Given the description of an element on the screen output the (x, y) to click on. 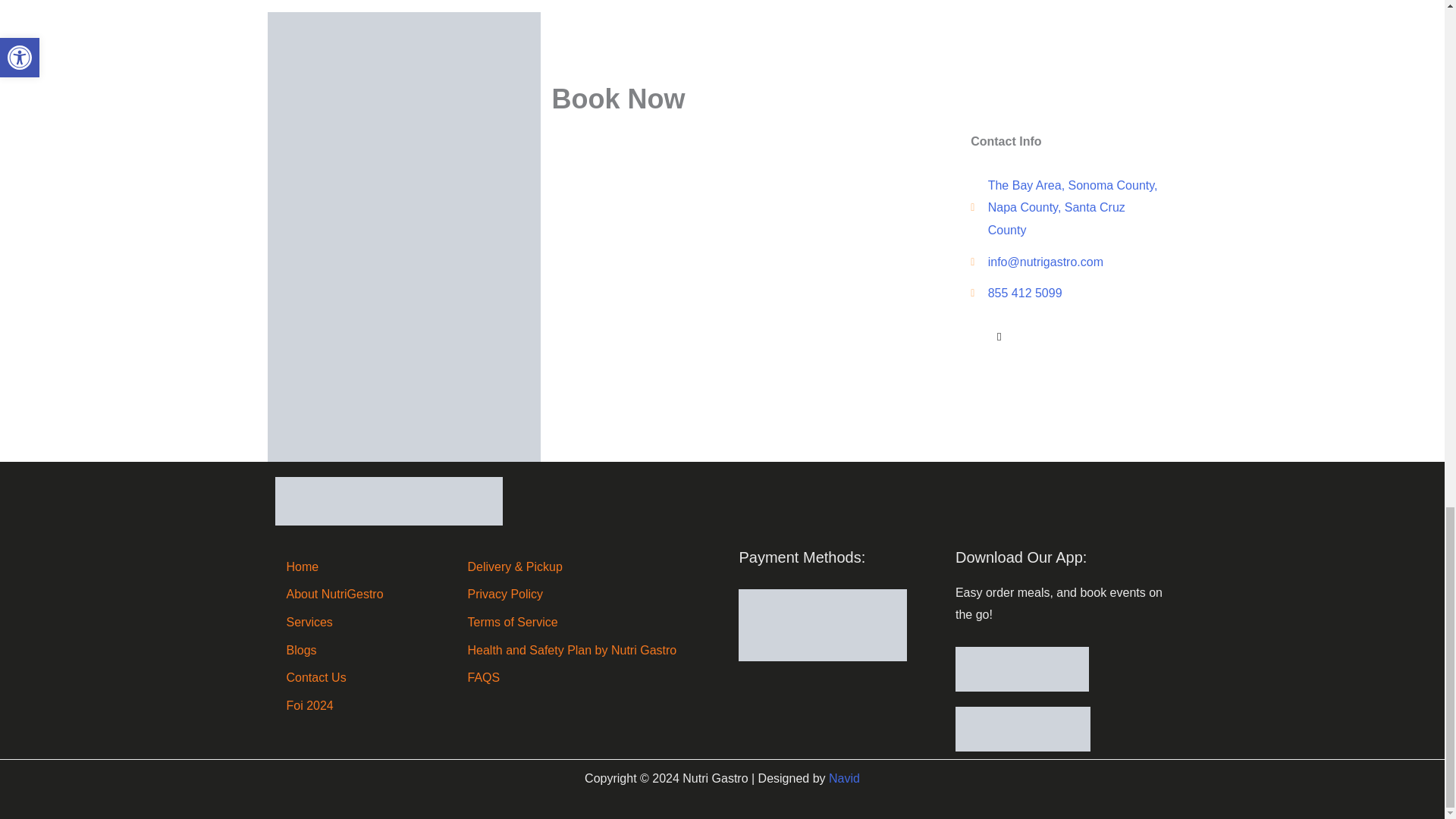
Services (363, 621)
About NutriGestro (363, 594)
Blogs (363, 650)
Home (363, 567)
Privacy Policy (595, 594)
Contact Us (363, 677)
855 412 5099 (1064, 292)
Foi 2024 (363, 705)
Facebook (998, 337)
The Bay Area, Sonoma County, Napa County, Santa Cruz County (1064, 207)
